Given the description of an element on the screen output the (x, y) to click on. 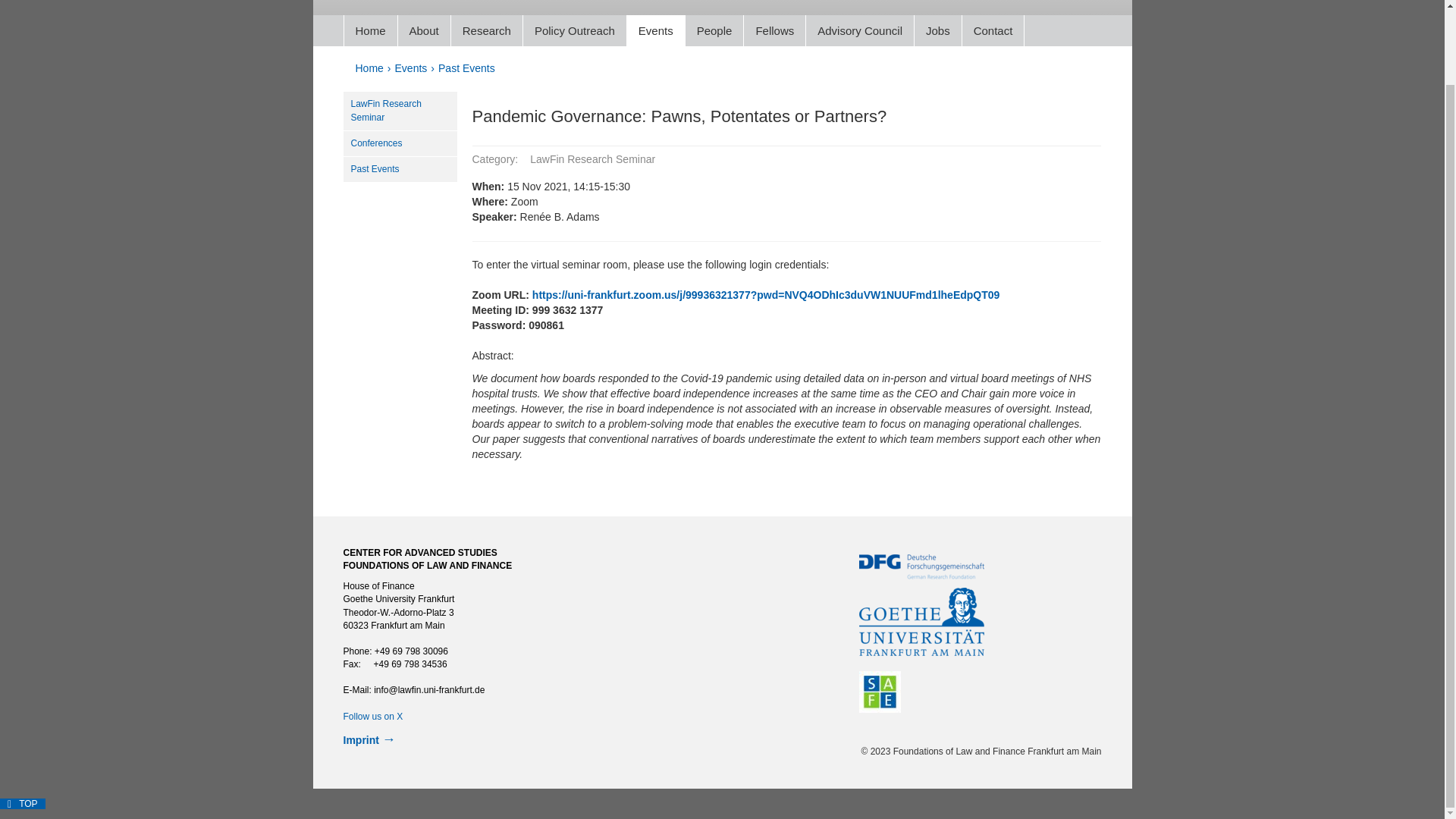
Events (655, 30)
Past Events (466, 68)
Imprint (360, 739)
Jobs (937, 30)
Past Events (399, 169)
Follow us on X (372, 716)
Conferences (399, 144)
Advisory Council (860, 30)
Home (368, 68)
Opens internal link in current window (372, 716)
Home (370, 30)
TOP (22, 803)
LawFin Research Seminar (399, 110)
LawFin Research Seminar (399, 110)
Contact (993, 30)
